Given the description of an element on the screen output the (x, y) to click on. 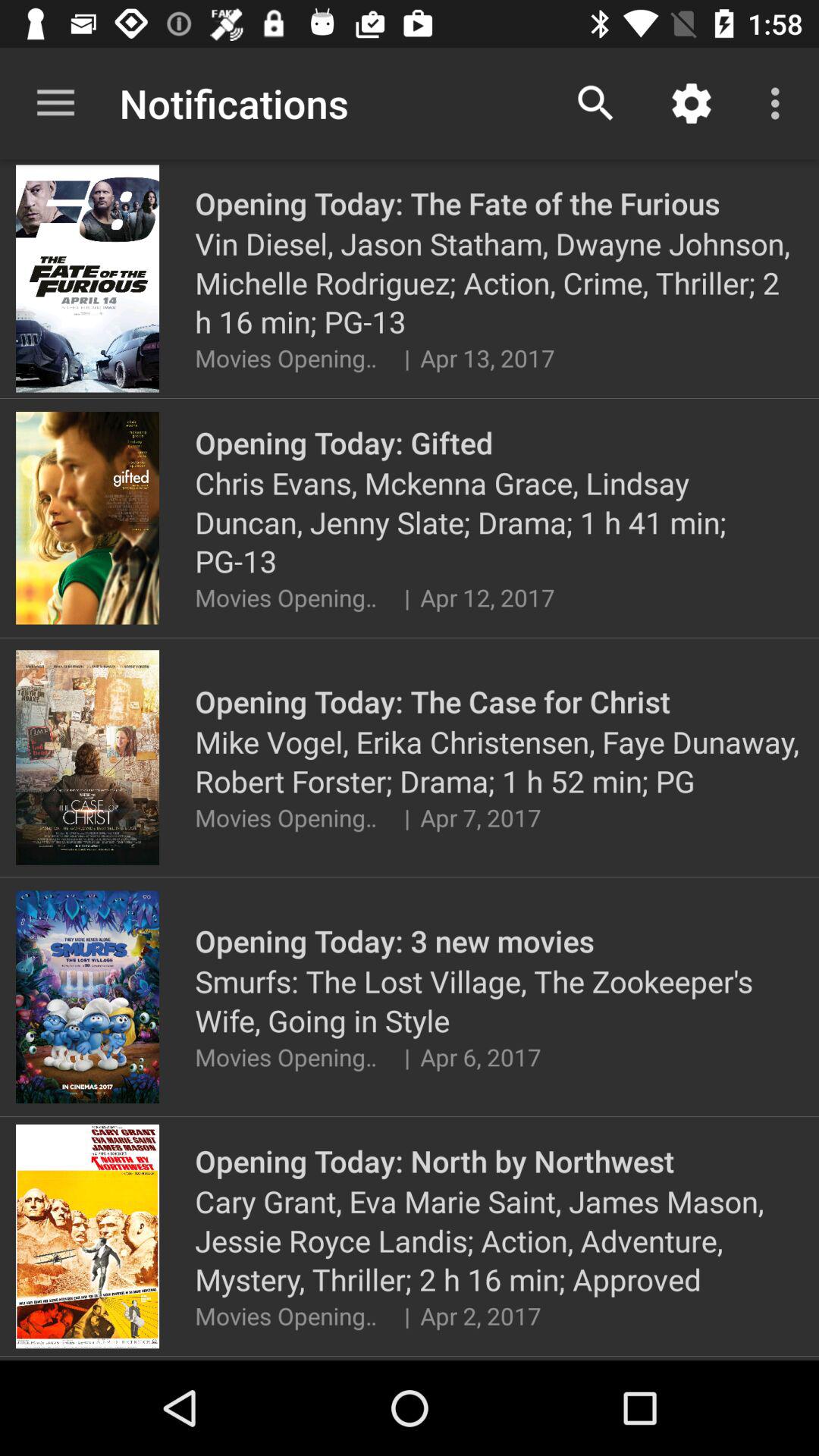
press the icon below the opening today 3 icon (499, 1000)
